Given the description of an element on the screen output the (x, y) to click on. 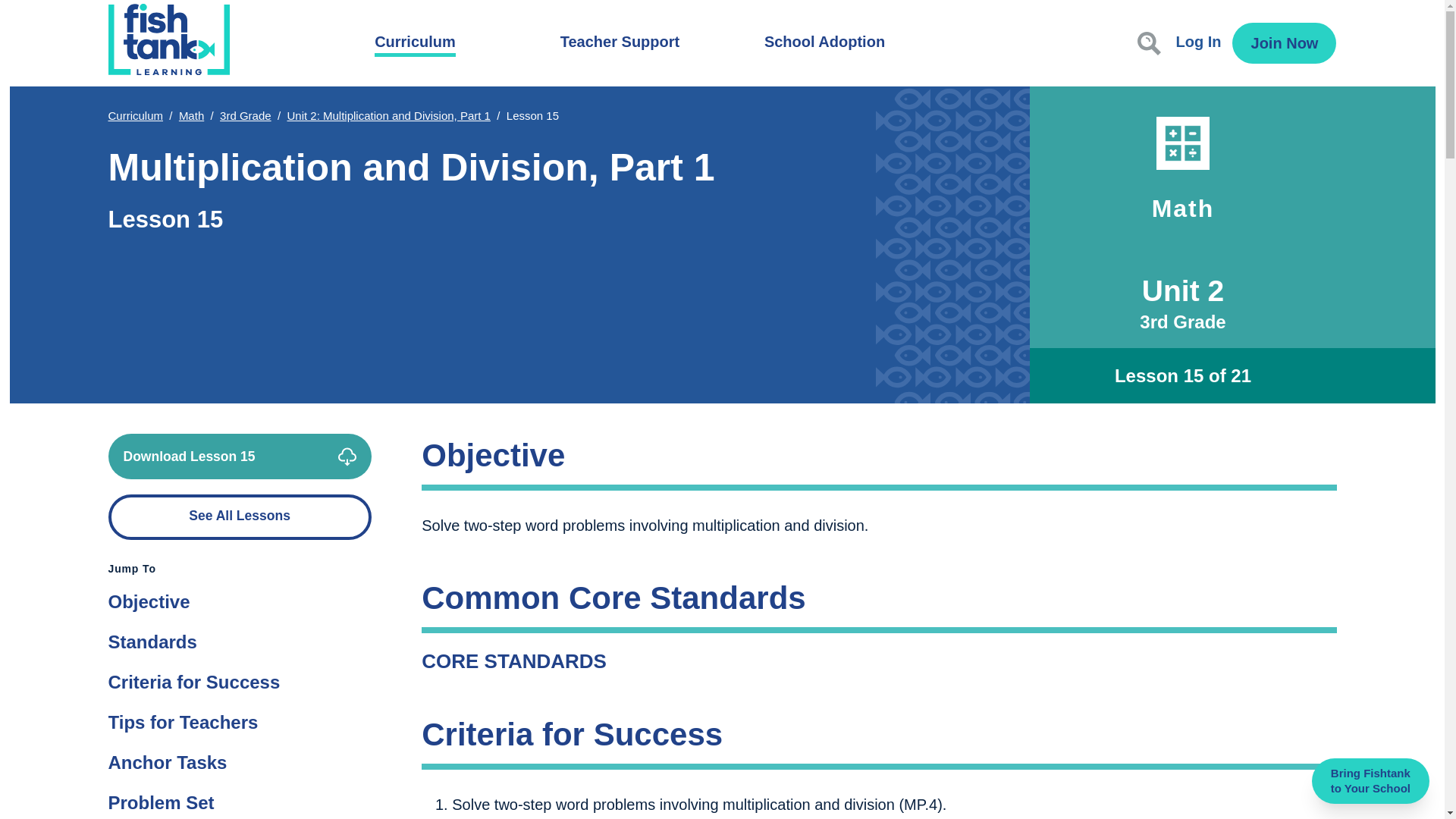
Curriculum (414, 43)
Log In (1197, 42)
Teacher Support (619, 43)
School Adoption (824, 43)
